Given the description of an element on the screen output the (x, y) to click on. 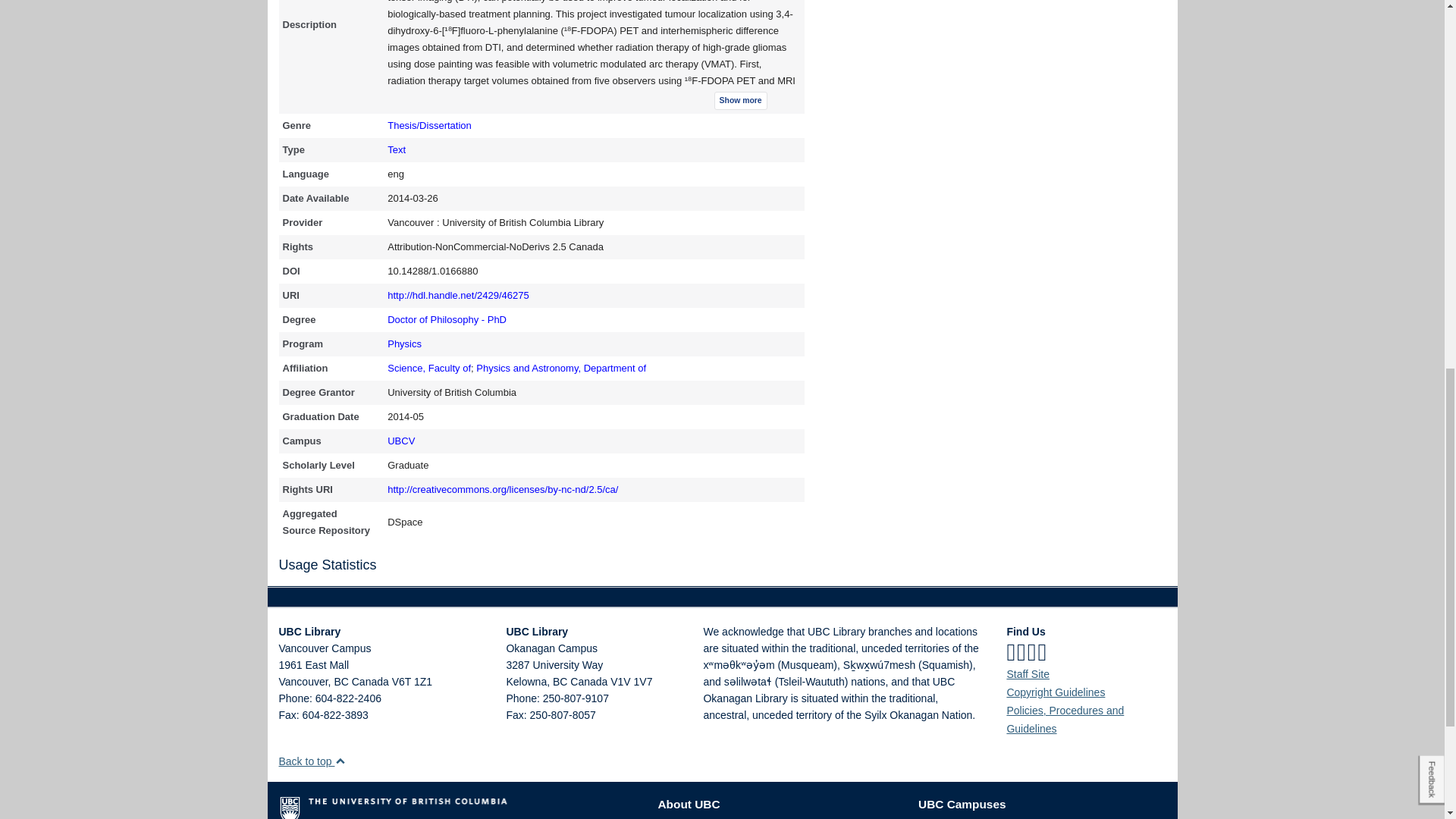
British Columbia (340, 681)
British Columbia (560, 681)
